Given the description of an element on the screen output the (x, y) to click on. 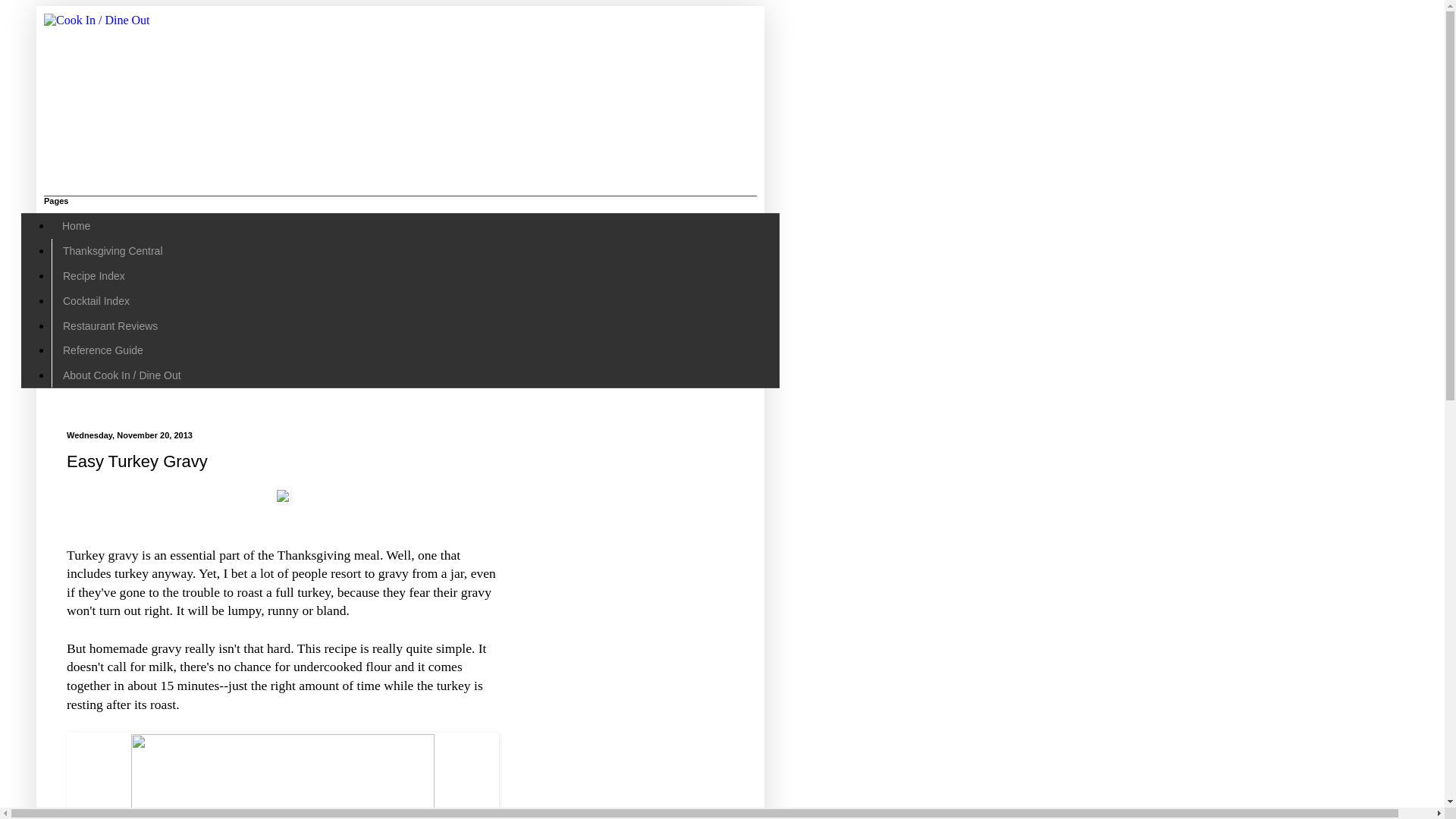
Home (75, 226)
Thanksgiving Central (111, 251)
Cocktail Index (94, 300)
Reference Guide (102, 350)
Recipe Index (92, 276)
Restaurant Reviews (109, 325)
